Given the description of an element on the screen output the (x, y) to click on. 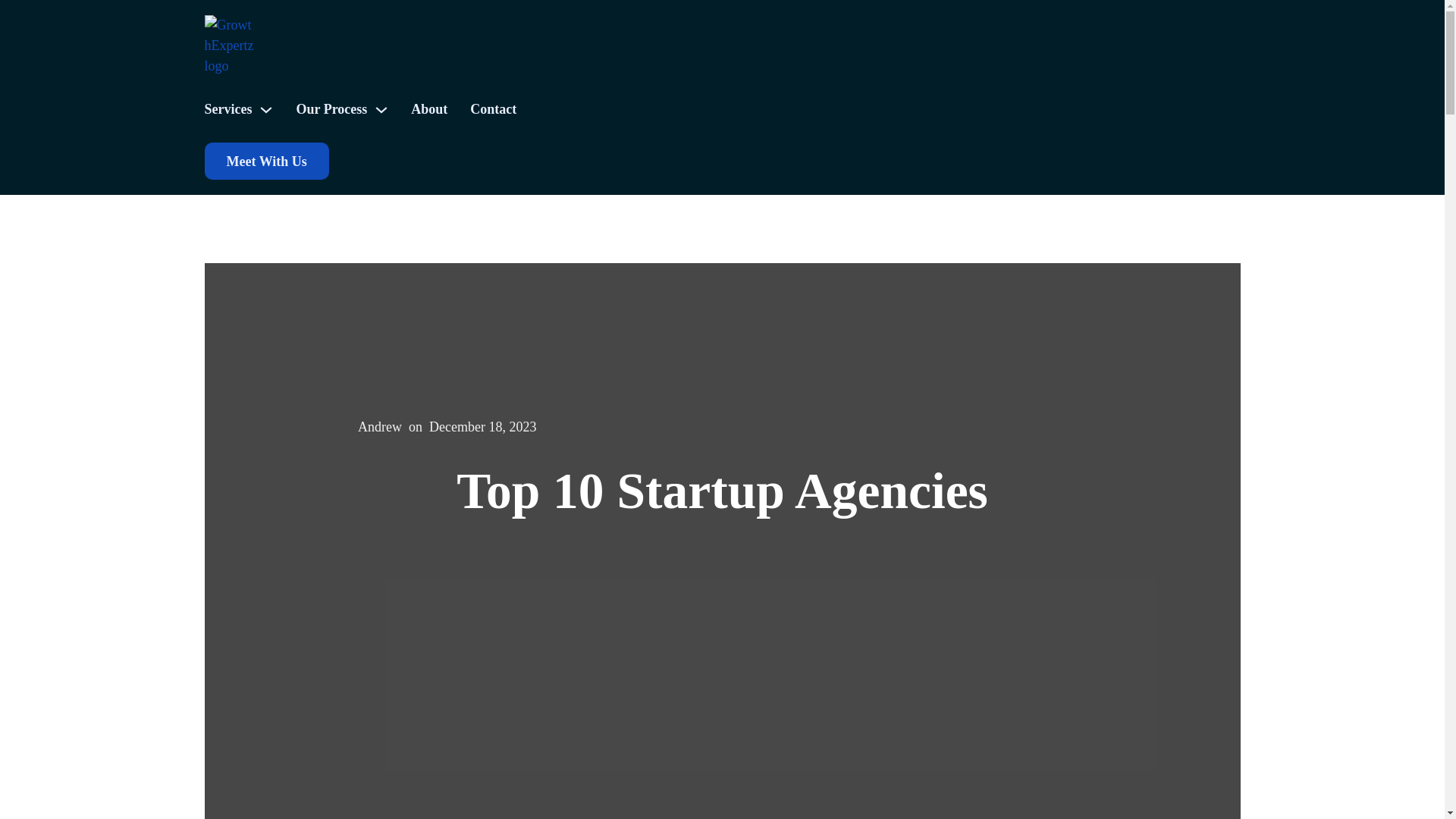
Services (228, 109)
Our Process (330, 109)
Contact (493, 109)
Meet With Us (267, 160)
About (428, 109)
